Given the description of an element on the screen output the (x, y) to click on. 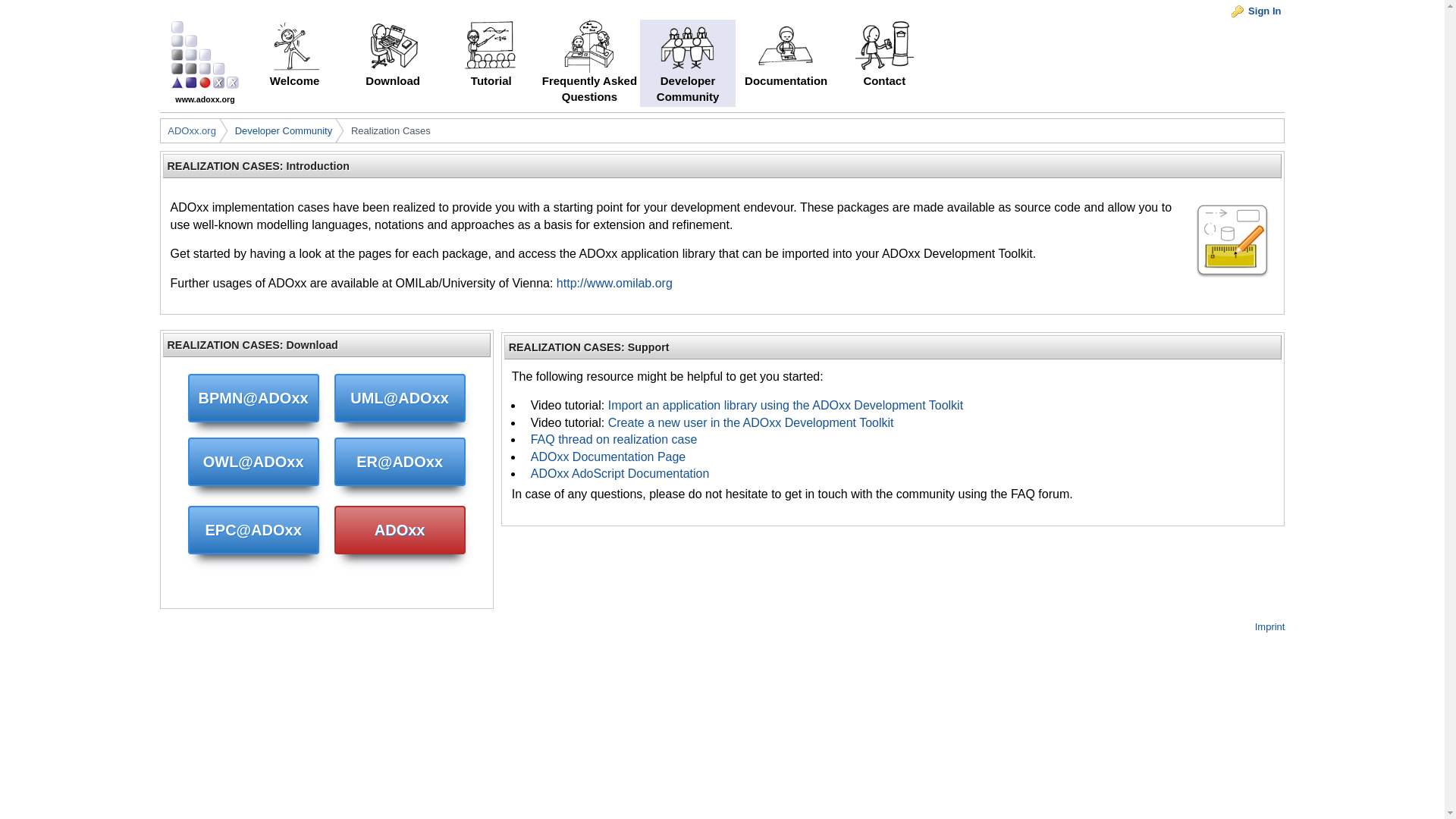
ADOxx (399, 530)
Download (393, 63)
Contact (883, 63)
ADOxx.org (191, 131)
Go to ADOxx.org (204, 93)
www.adoxx.org (204, 93)
Frequently Asked Questions (589, 63)
Documentation (786, 63)
Create a new user in the ADOxx Development Toolkit (750, 422)
Developer Community (283, 131)
Tutorial (491, 63)
Developer Community (687, 63)
Welcome (294, 63)
Sign In (1256, 11)
